Given the description of an element on the screen output the (x, y) to click on. 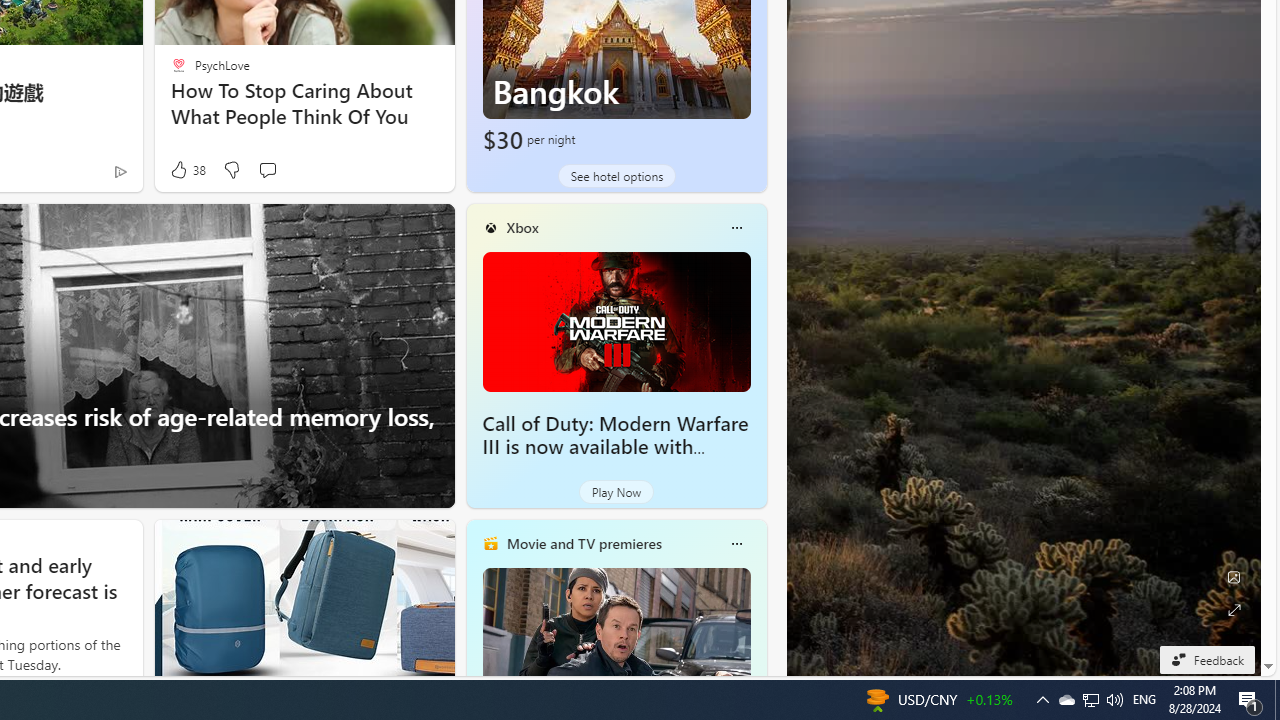
See hotel options (615, 175)
Class: icon-img (736, 543)
Expand background (1233, 610)
38 Like (186, 170)
Xbox (521, 227)
Edit Background (1233, 577)
Play Now (616, 491)
